Given the description of an element on the screen output the (x, y) to click on. 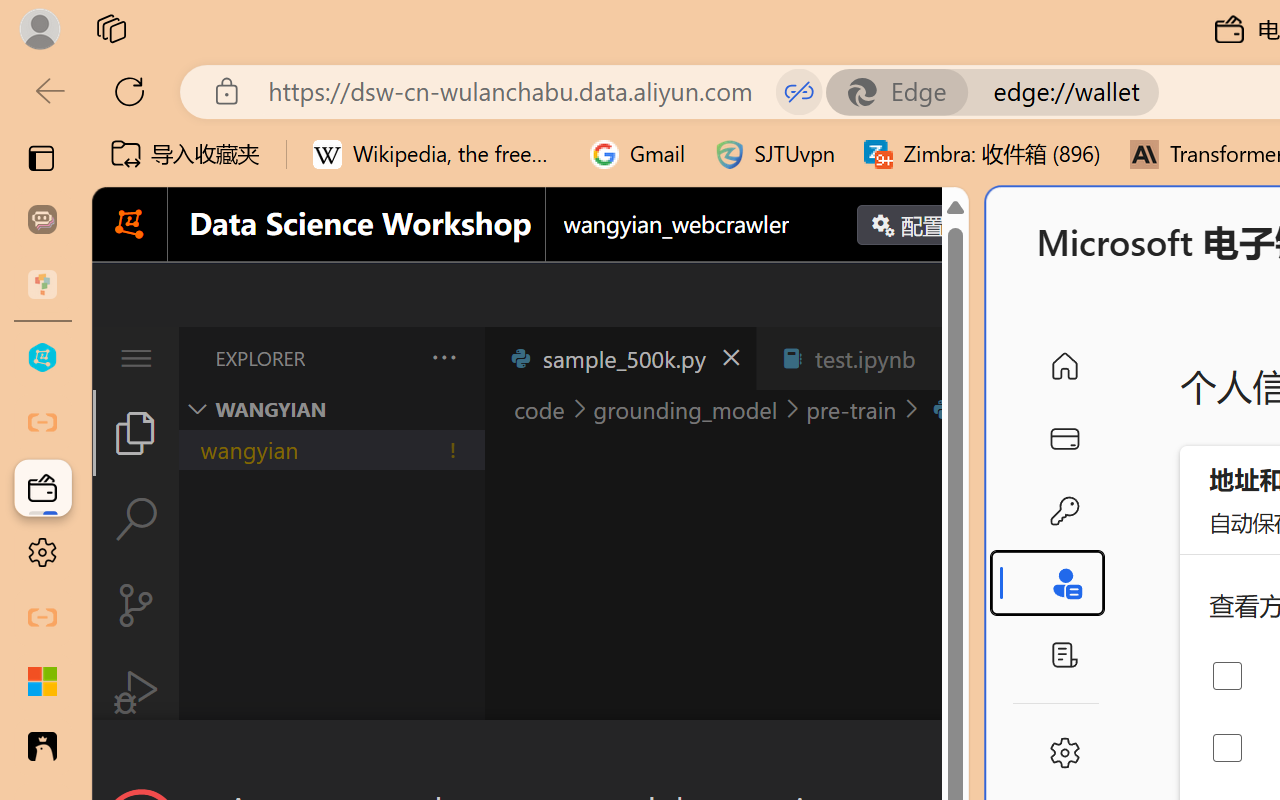
Close Dialog (959, 756)
Tab actions (945, 358)
Search (Ctrl+Shift+F) (135, 519)
Microsoft security help and learning (42, 681)
Explorer Section: wangyian (331, 409)
Application Menu (135, 358)
Explorer actions (391, 358)
Wikipedia, the free encyclopedia (437, 154)
